Given the description of an element on the screen output the (x, y) to click on. 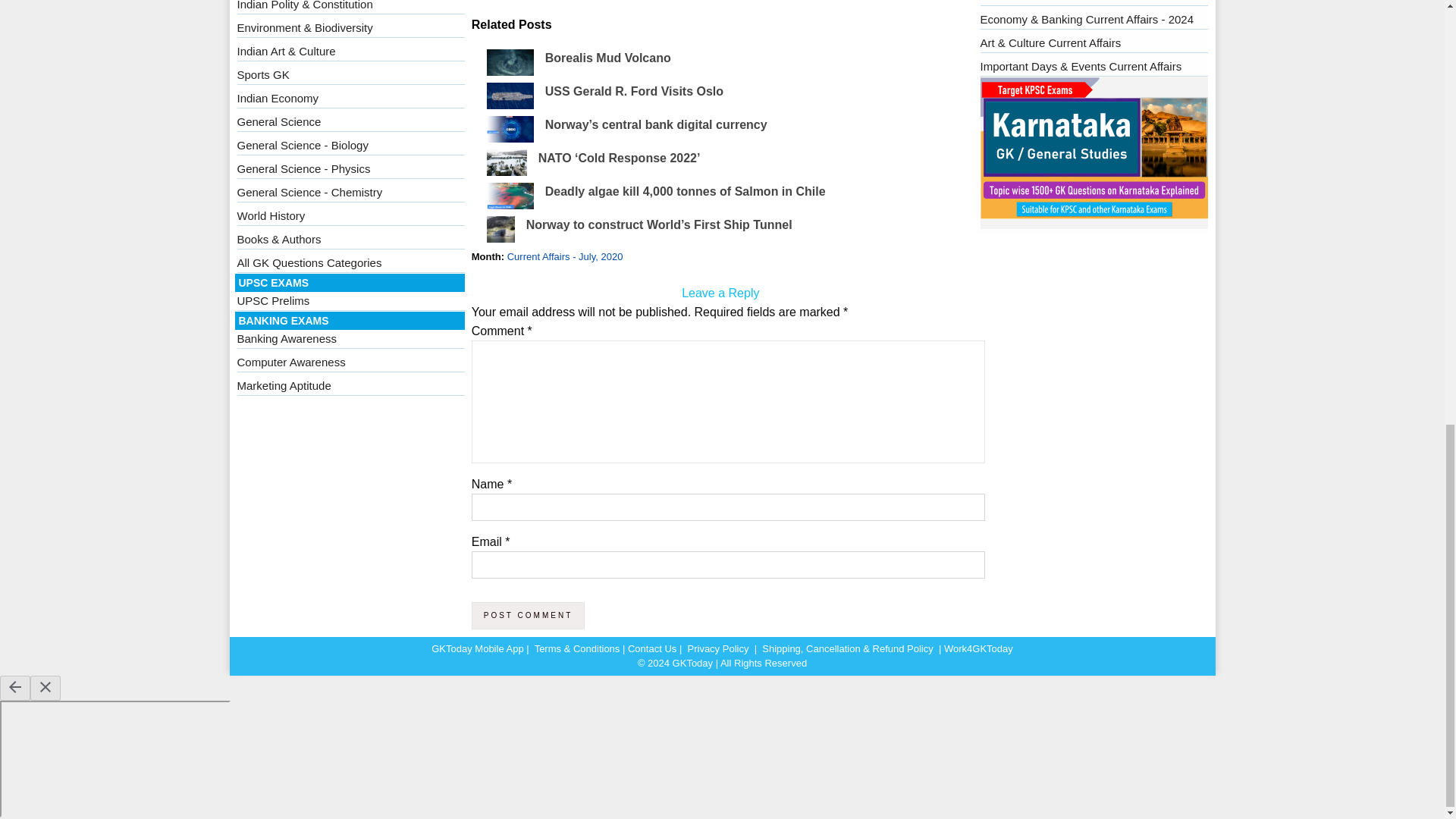
Post Comment (528, 615)
Post Comment (528, 615)
Current Affairs - July, 2020 (564, 256)
Borealis Mud Volcano (607, 57)
Deadly algae kill 4,000 tonnes of Salmon in Chile (684, 191)
Borealis Mud Volcano (607, 57)
USS Gerald R. Ford Visits Oslo (633, 91)
Deadly algae kill 4,000 tonnes of Salmon in Chile (684, 191)
USS Gerald R. Ford Visits Oslo (633, 91)
